Given the description of an element on the screen output the (x, y) to click on. 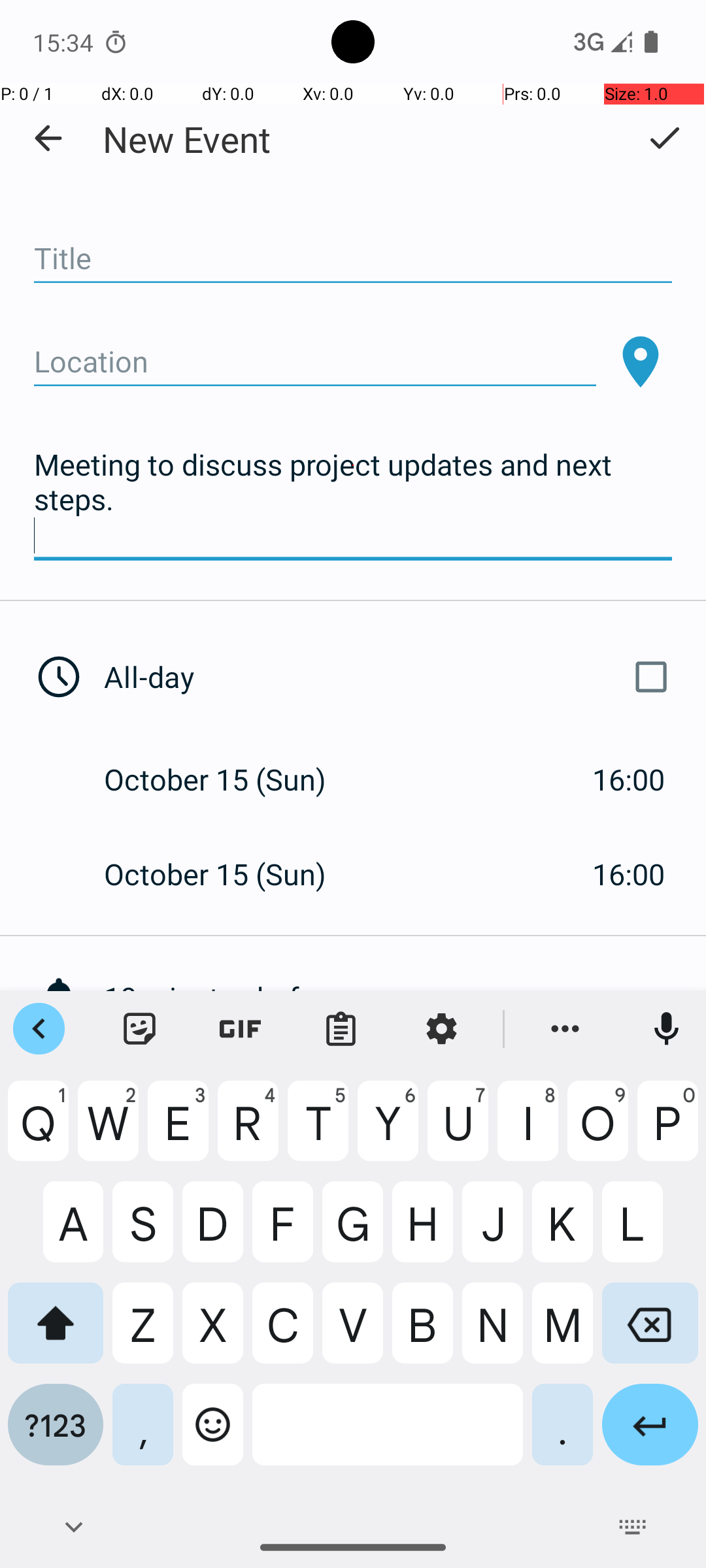
Meeting to discuss project updates and next steps.
 Element type: android.widget.EditText (352, 499)
